Given the description of an element on the screen output the (x, y) to click on. 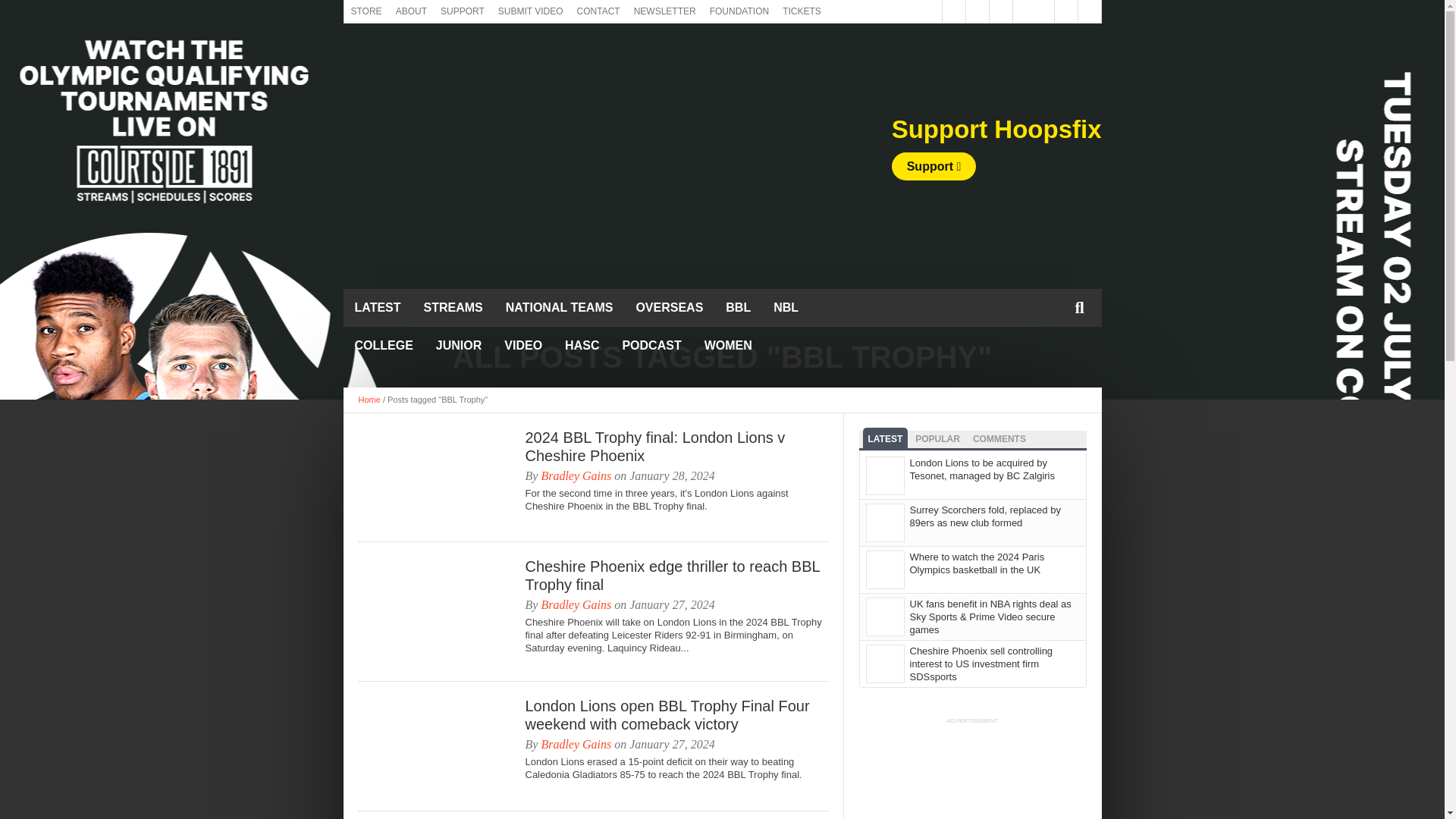
Posts by Bradley Gains (575, 744)
Posts by Bradley Gains (575, 475)
Posts by Bradley Gains (575, 604)
Fixture-ribbon (721, 229)
